Given the description of an element on the screen output the (x, y) to click on. 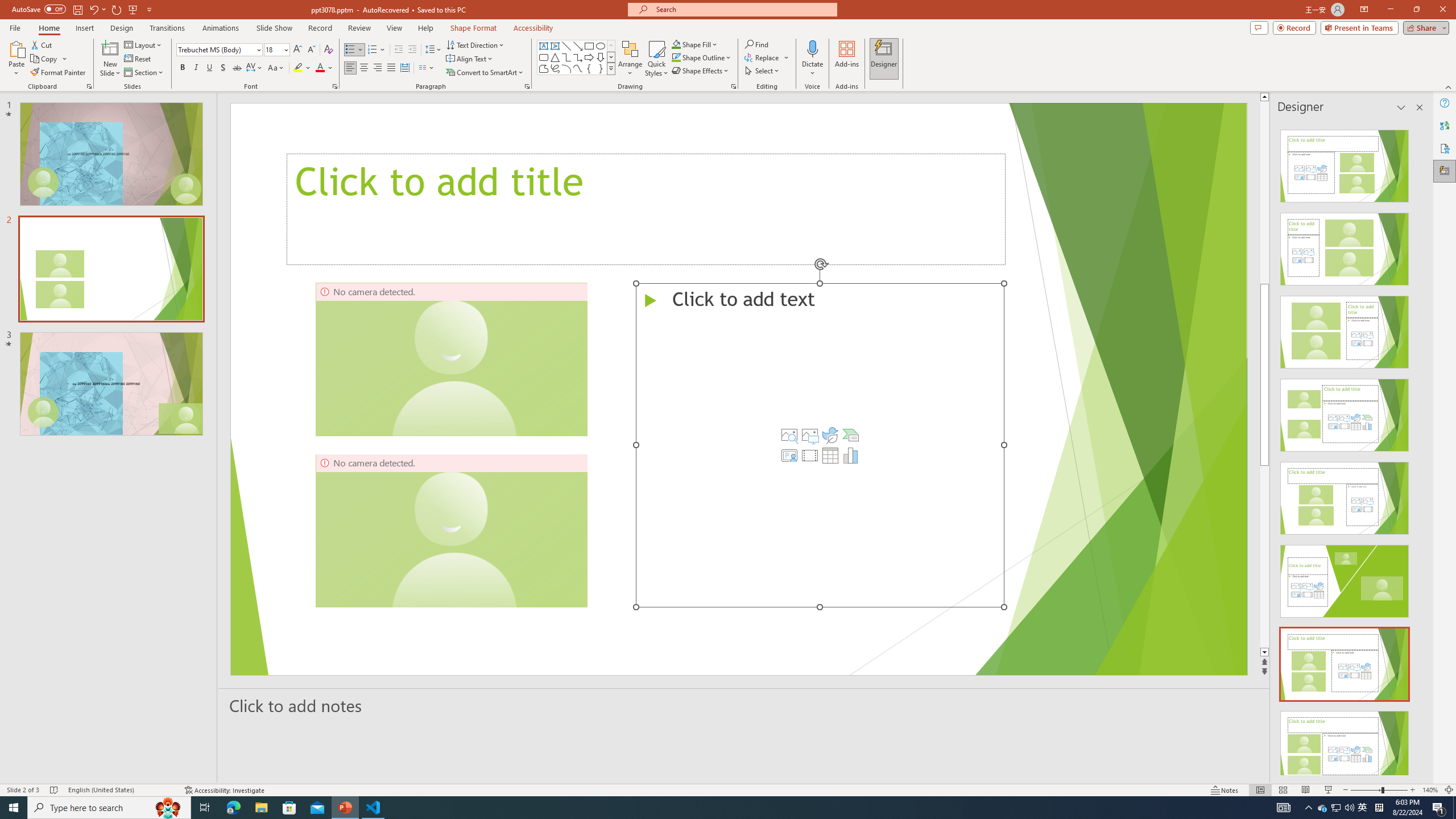
Class: NetUIScrollBar (1418, 447)
Insert an Icon (830, 434)
Shape Fill Dark Green, Accent 2 (675, 44)
